Given the description of an element on the screen output the (x, y) to click on. 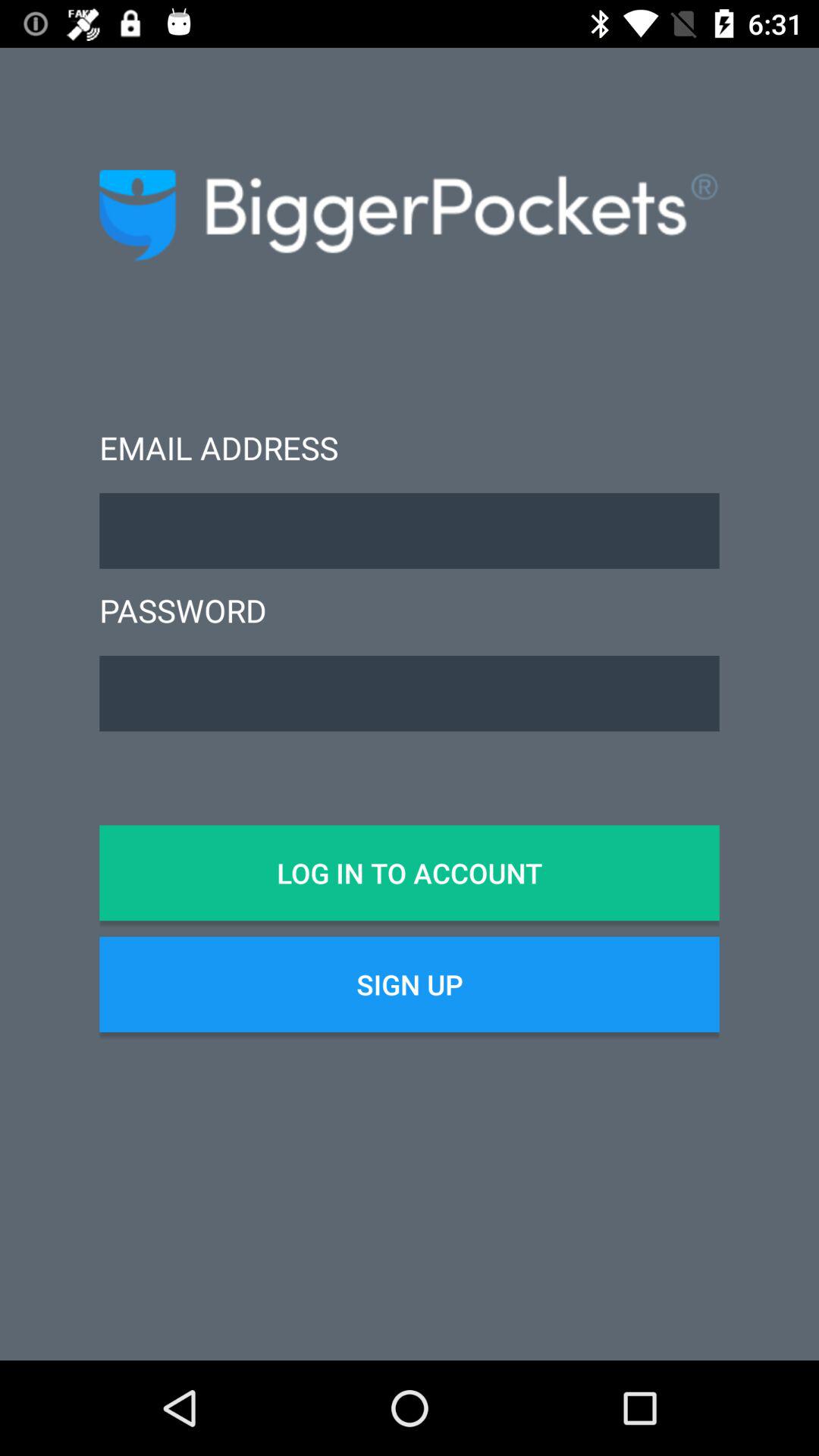
click sign up button (409, 984)
